Given the description of an element on the screen output the (x, y) to click on. 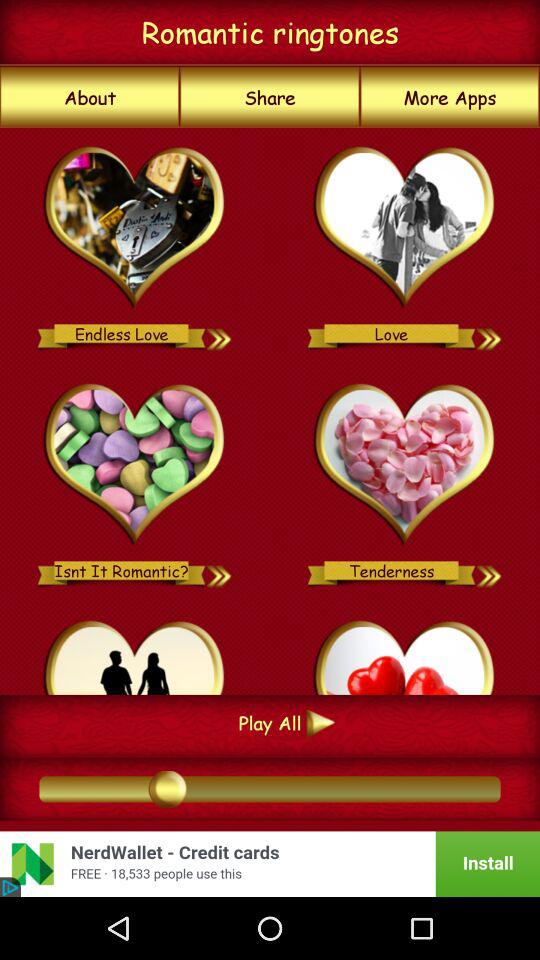
selection (134, 228)
